Given the description of an element on the screen output the (x, y) to click on. 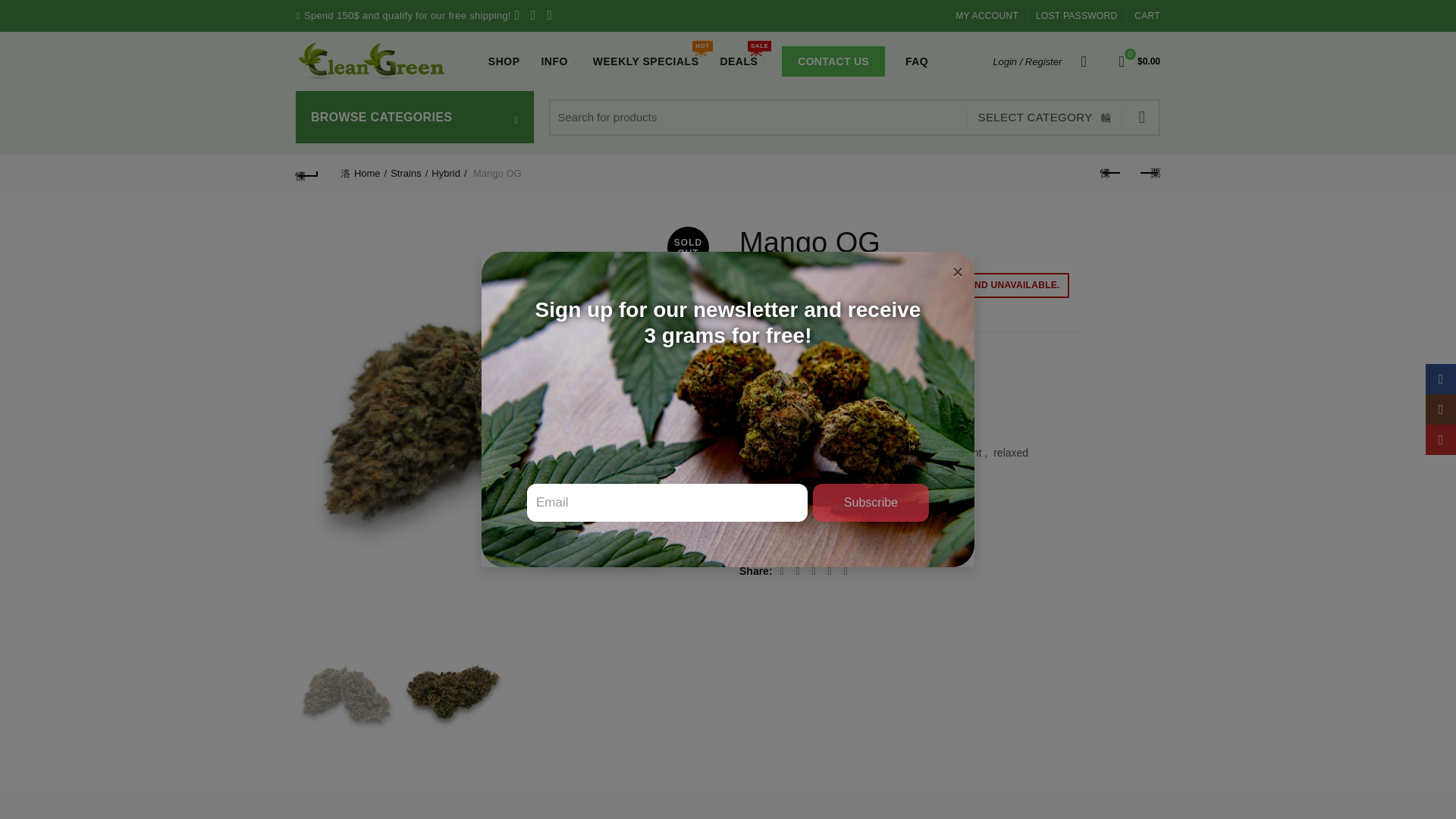
HighThere (777, 520)
mango-og2 (346, 693)
mango-og1 (452, 693)
